Given the description of an element on the screen output the (x, y) to click on. 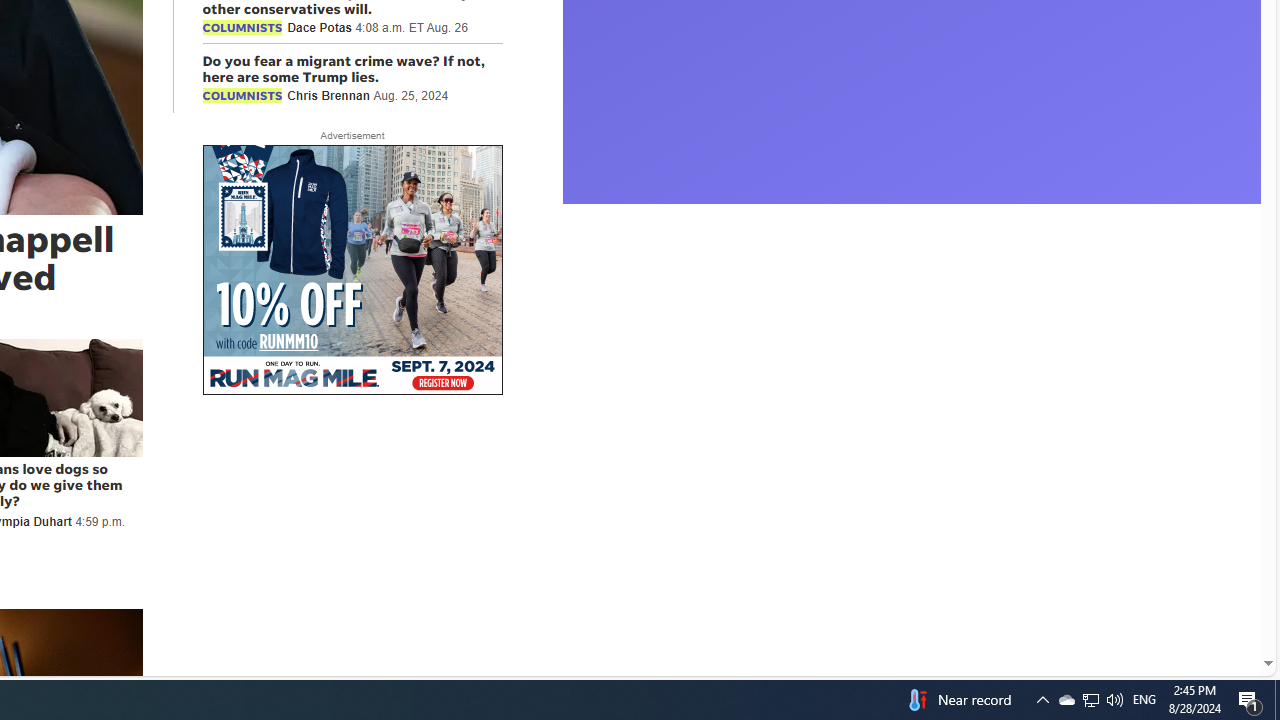
AutomationID: aw0 (352, 271)
